Given the description of an element on the screen output the (x, y) to click on. 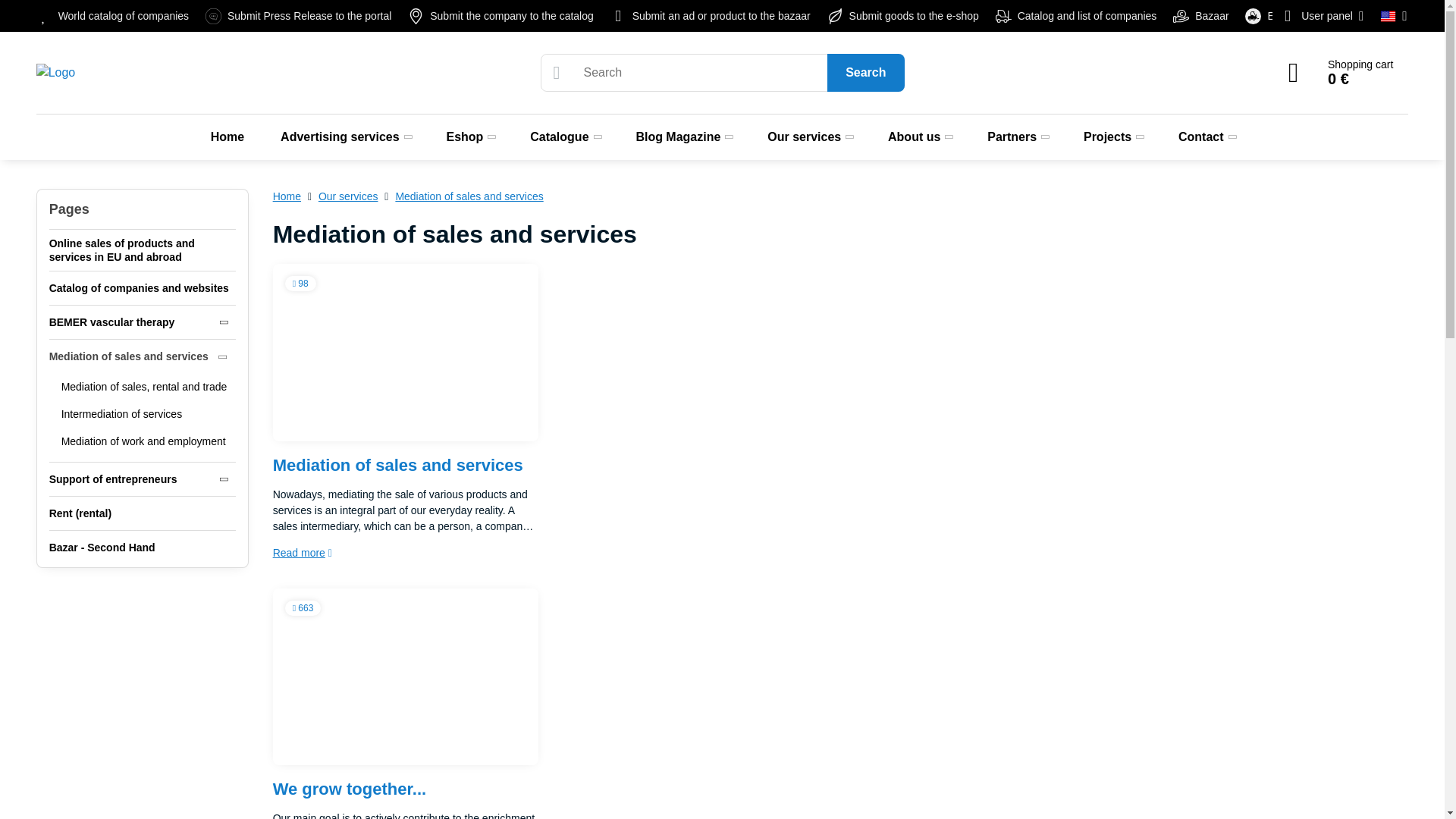
E-shop (1274, 15)
Catalog and list of companies (1077, 15)
Submit Press Release to the portal (299, 15)
Bazaar (1202, 15)
Shopping cart (1339, 72)
Submit goods to the e-shop (903, 15)
World catalog of companies (117, 15)
Submit the company to the catalog (501, 15)
User panel (1322, 15)
